Given the description of an element on the screen output the (x, y) to click on. 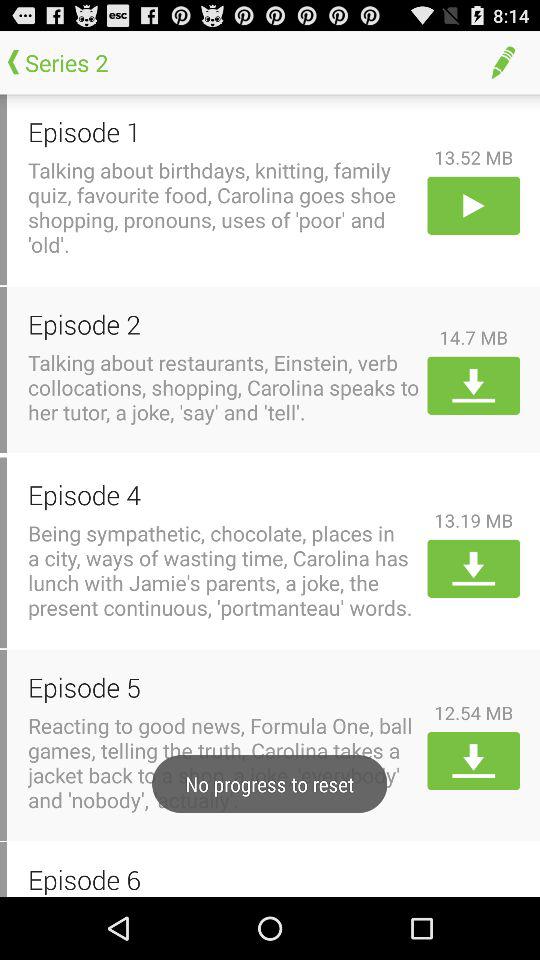
choose the 12.54 mb app (473, 712)
